Given the description of an element on the screen output the (x, y) to click on. 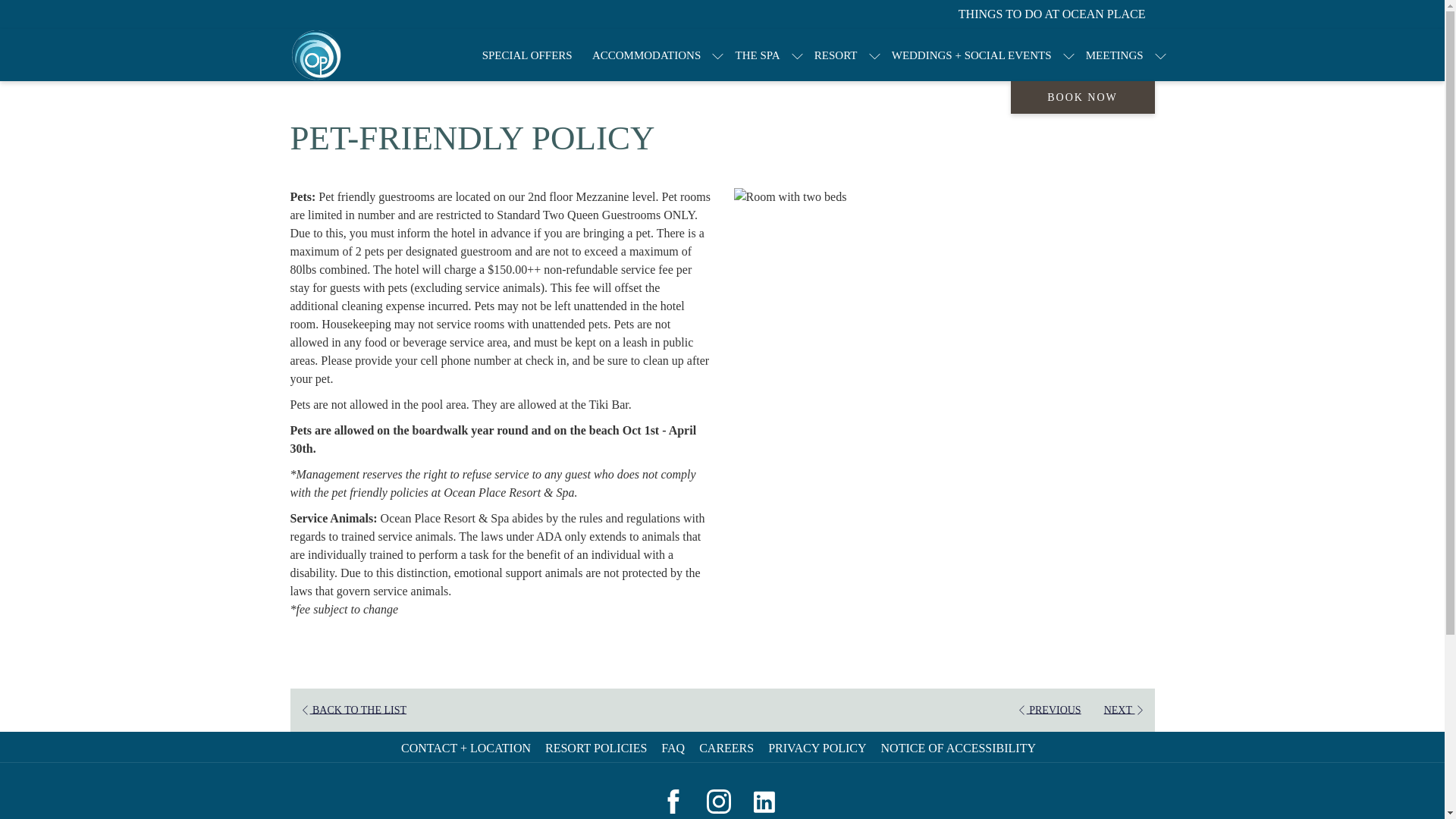
BOOK NOW (1082, 97)
THINGS TO DO AT OCEAN PLACE (1051, 14)
ACCOMMODATIONS (646, 54)
THE SPA (757, 54)
Back to the homepage (315, 54)
RESORT (836, 54)
MEETINGS (1114, 54)
SPECIAL OFFERS (525, 54)
